Given the description of an element on the screen output the (x, y) to click on. 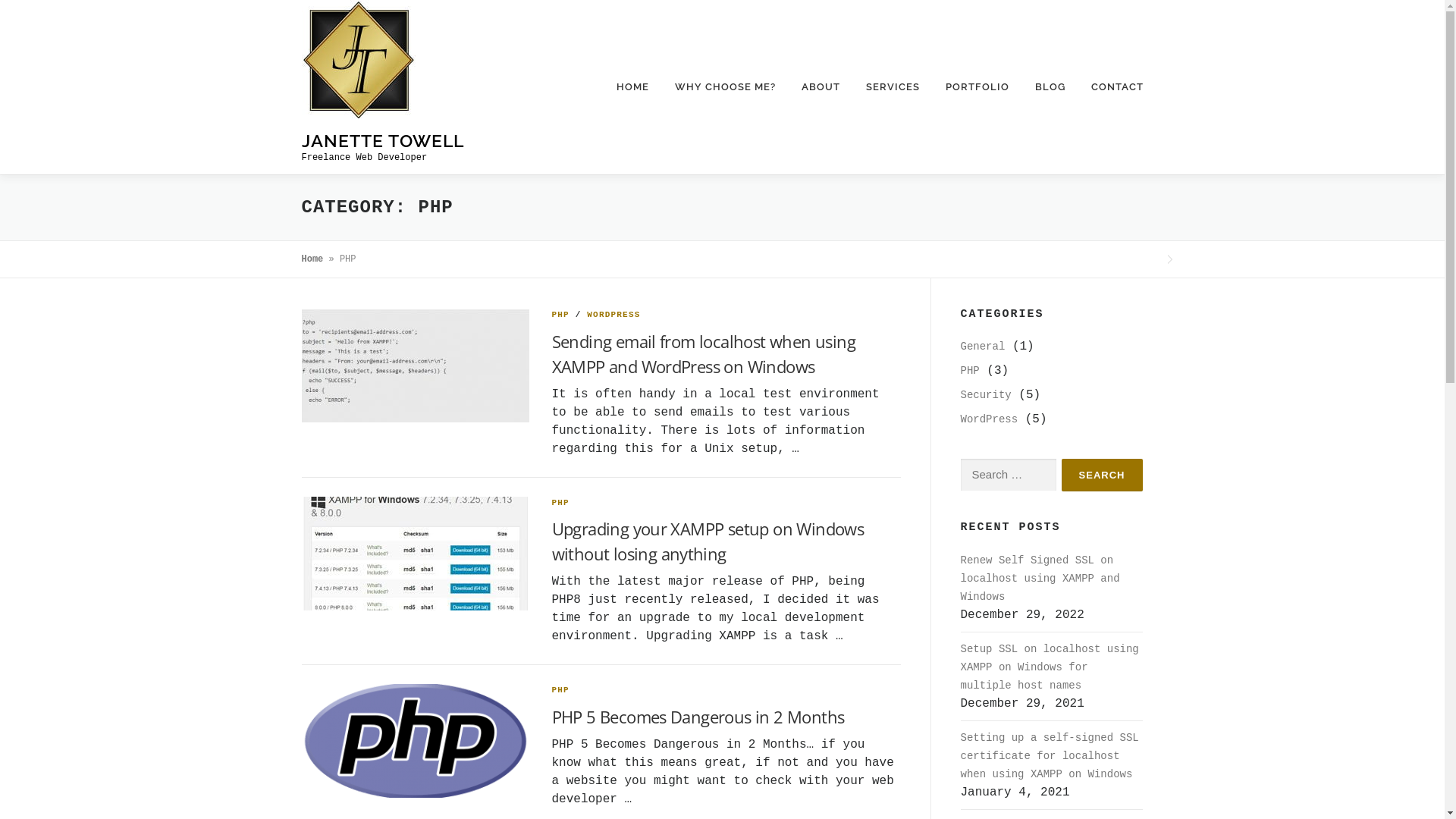
PHP 5 Becomes Dangerous in 2 Months Element type: text (698, 716)
Security Element type: text (985, 395)
Search Element type: text (1101, 474)
WHY CHOOSE ME? Element type: text (724, 87)
HOME Element type: text (632, 87)
PORTFOLIO Element type: text (977, 87)
PHP Element type: text (560, 689)
SERVICES Element type: text (891, 87)
Home Element type: text (312, 259)
General Element type: text (982, 346)
PHP Element type: text (560, 502)
PHP Element type: text (969, 370)
CONTACT Element type: text (1110, 87)
BLOG Element type: text (1050, 87)
PHP Element type: text (560, 314)
JANETTE TOWELL Element type: text (382, 139)
WordPress Element type: text (988, 419)
ABOUT Element type: text (820, 87)
WORDPRESS Element type: text (613, 314)
Renew Self Signed SSL on localhost using XAMPP and Windows Element type: text (1039, 578)
